Given the description of an element on the screen output the (x, y) to click on. 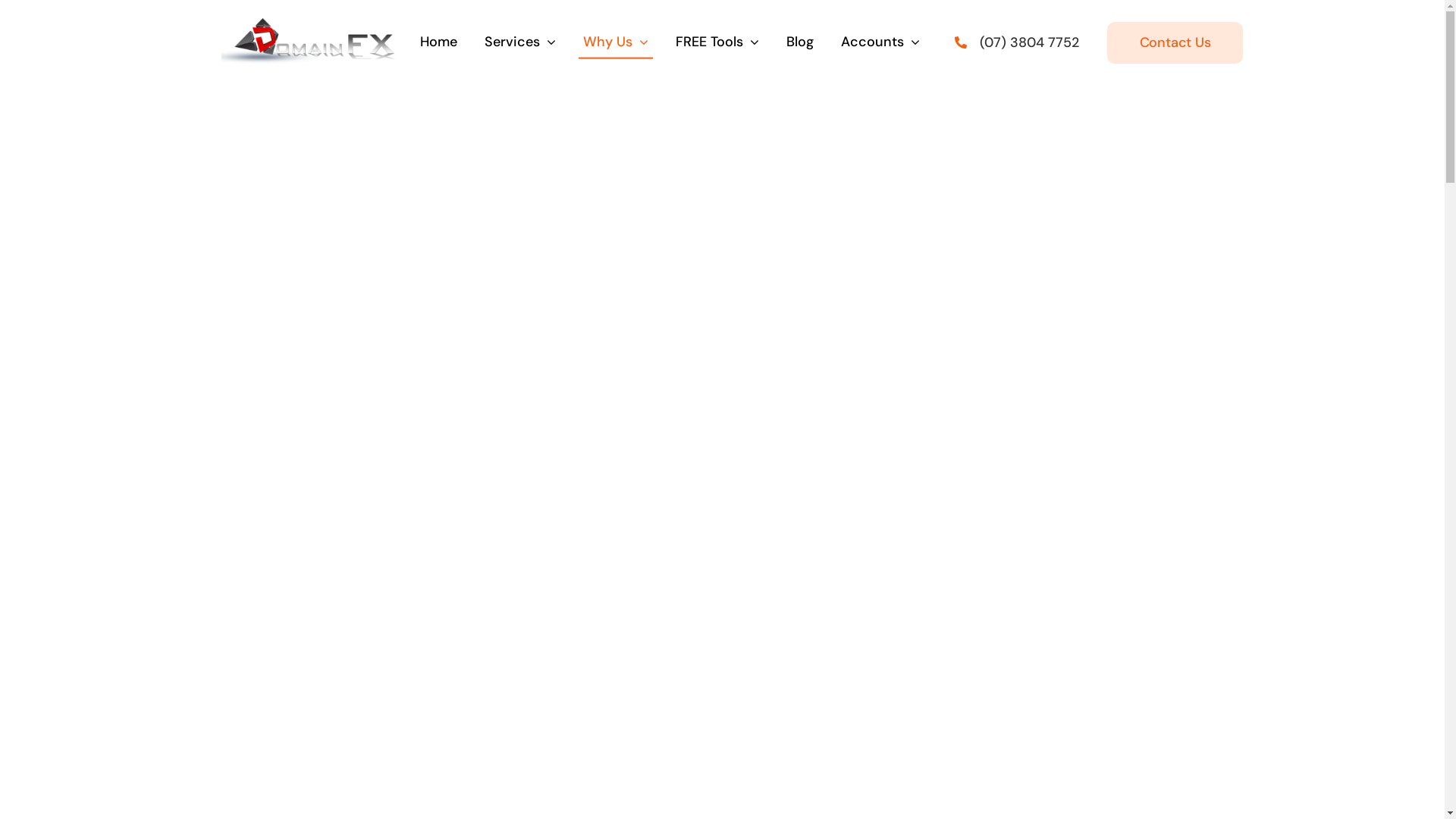
Why Us Element type: text (615, 42)
Contact Us Element type: text (1174, 41)
Services Element type: text (520, 42)
(07) 3804 7752 Element type: text (1029, 42)
Home Element type: text (438, 42)
FREE Tools Element type: text (717, 42)
Accounts Element type: text (880, 42)
Blog Element type: text (799, 42)
